Given the description of an element on the screen output the (x, y) to click on. 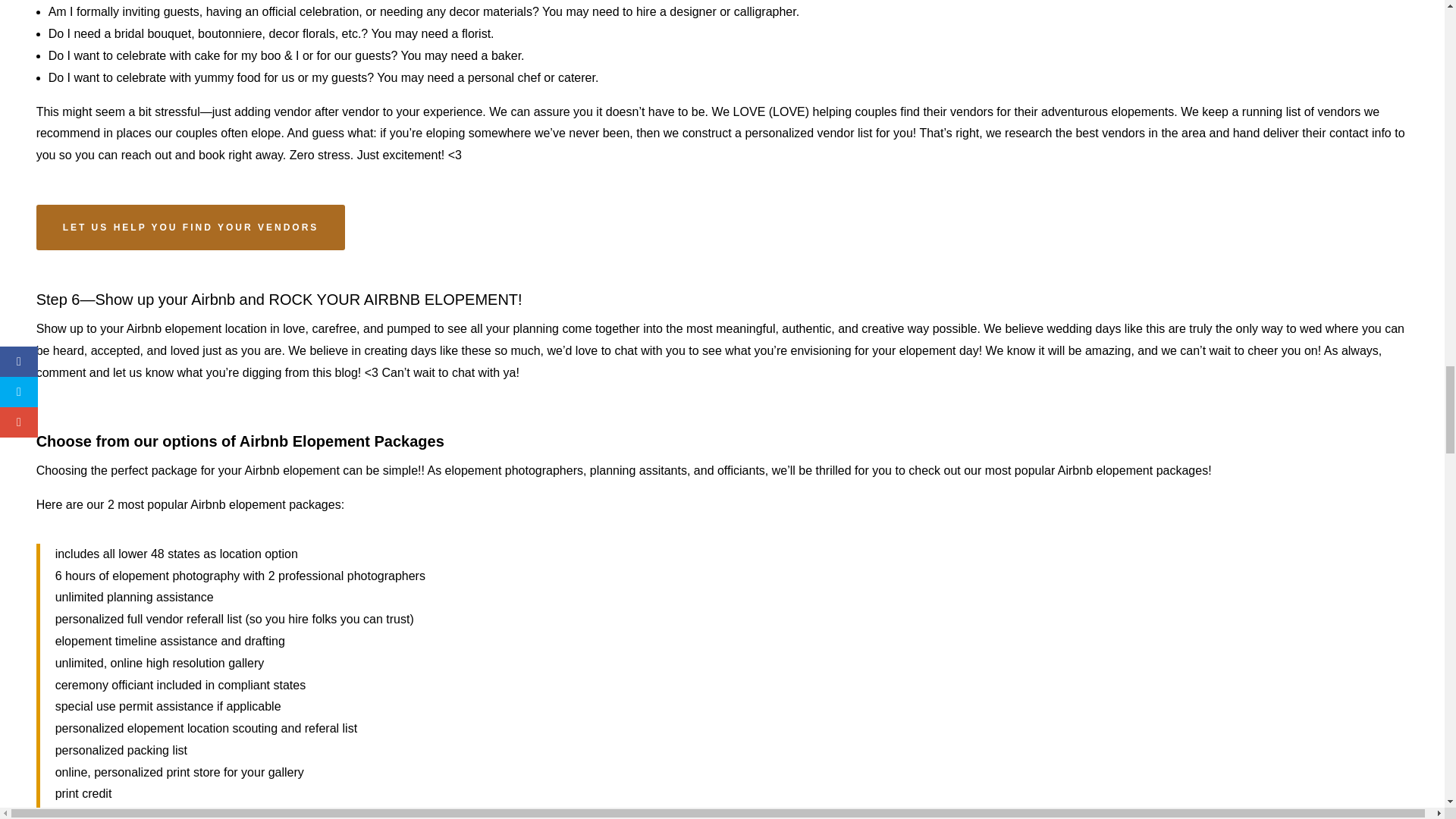
LET US HELP YOU FIND YOUR VENDORS (191, 227)
